Given the description of an element on the screen output the (x, y) to click on. 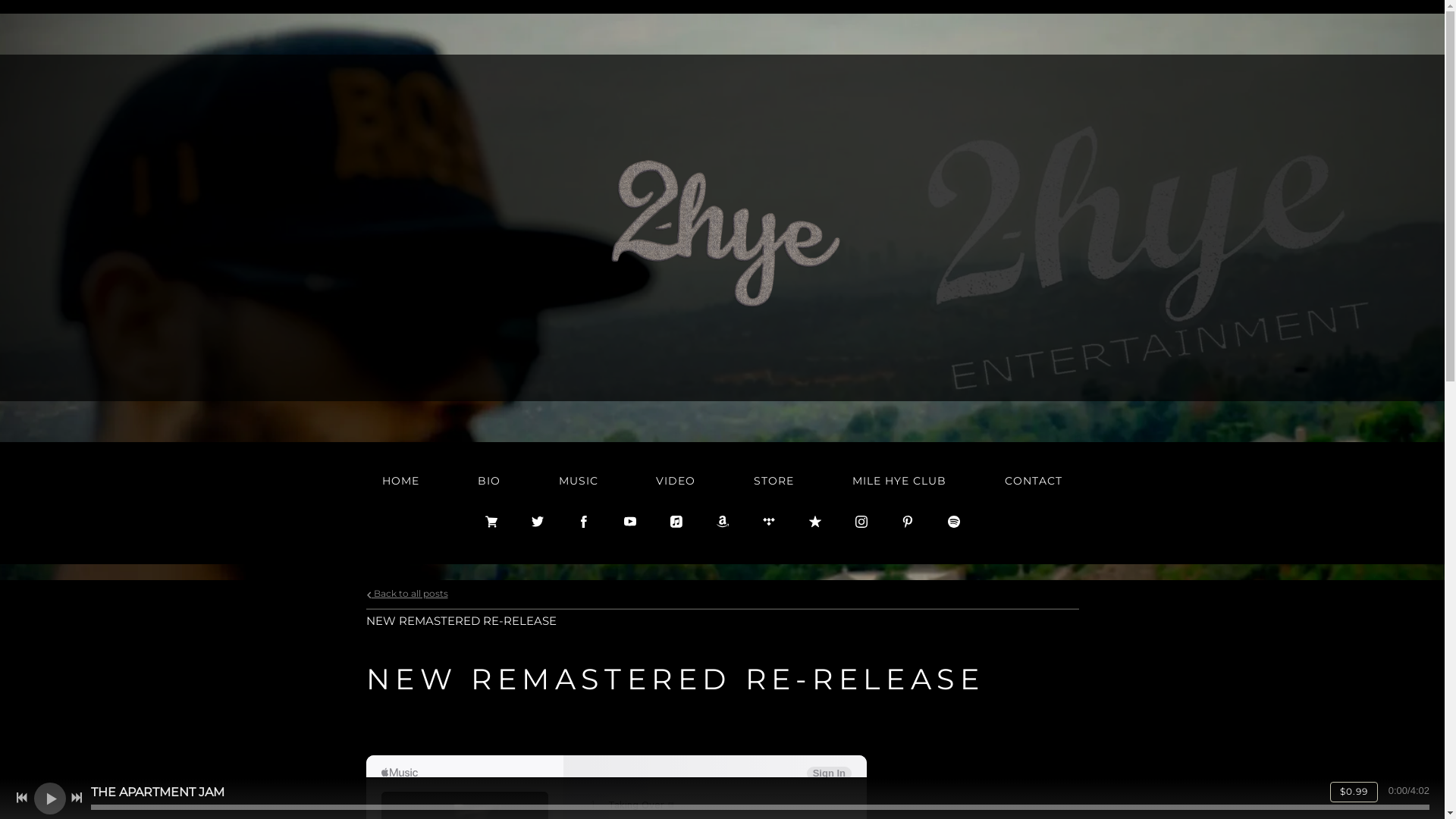
$0.99 Element type: text (1353, 791)
https://itunes.apple.com/artist/2-hye/id267291122 Element type: hover (676, 521)
Next track Element type: hover (76, 797)
http://facebook.com/2hyeentertainment Element type: hover (583, 521)
Previous track Element type: hover (21, 797)
http://twitter.com/2_hye Element type: hover (536, 521)
https://music.apple.com/us/artist/2-hye/267291122 Element type: hover (814, 521)
https://open.spotify.com/artist/4z4aOI3LFRqQCMpRjRaaaU Element type: hover (953, 521)
https://tidal.com/browse/artist/6037237 Element type: hover (768, 521)
BIO Element type: text (488, 480)
STORE Element type: text (773, 480)
HOME Element type: text (400, 480)
MUSIC Element type: text (578, 480)
MILE HYE CLUB Element type: text (899, 480)
2hyemerch.bigcartel.com Element type: hover (491, 521)
Back to all posts Element type: text (406, 593)
CONTACT Element type: text (1033, 480)
http://youtube.com/2hyetv Element type: hover (629, 521)
VIDEO Element type: text (675, 480)
https://pinterest.com/2hyemusic Element type: hover (906, 521)
Play Element type: hover (49, 797)
https://instagram.com/2hyemusic Element type: hover (861, 521)
